Given the description of an element on the screen output the (x, y) to click on. 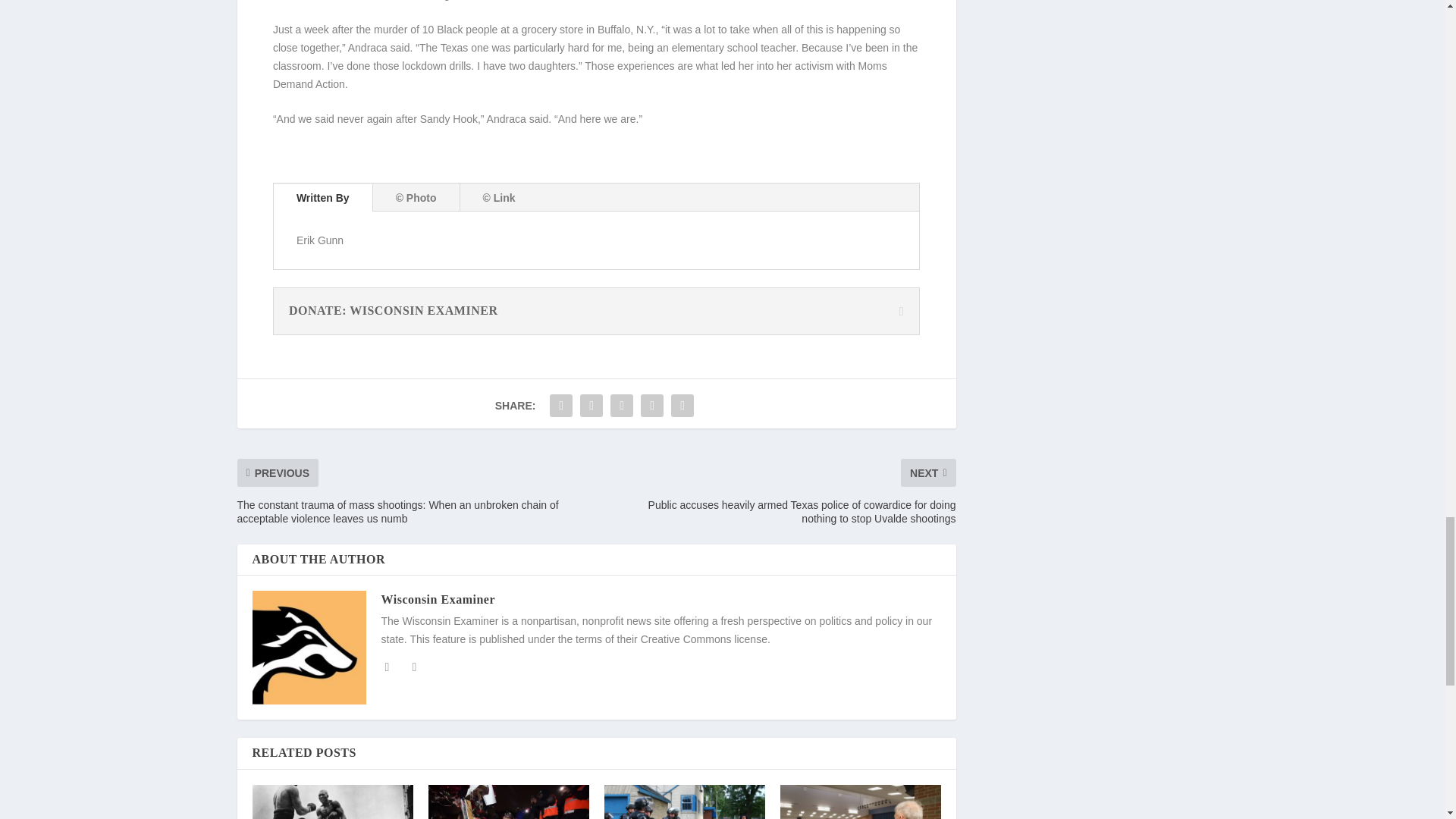
View all posts by Wisconsin Examiner (437, 599)
Sherman Park anger stems from unequal treatment of residents (684, 801)
